Given the description of an element on the screen output the (x, y) to click on. 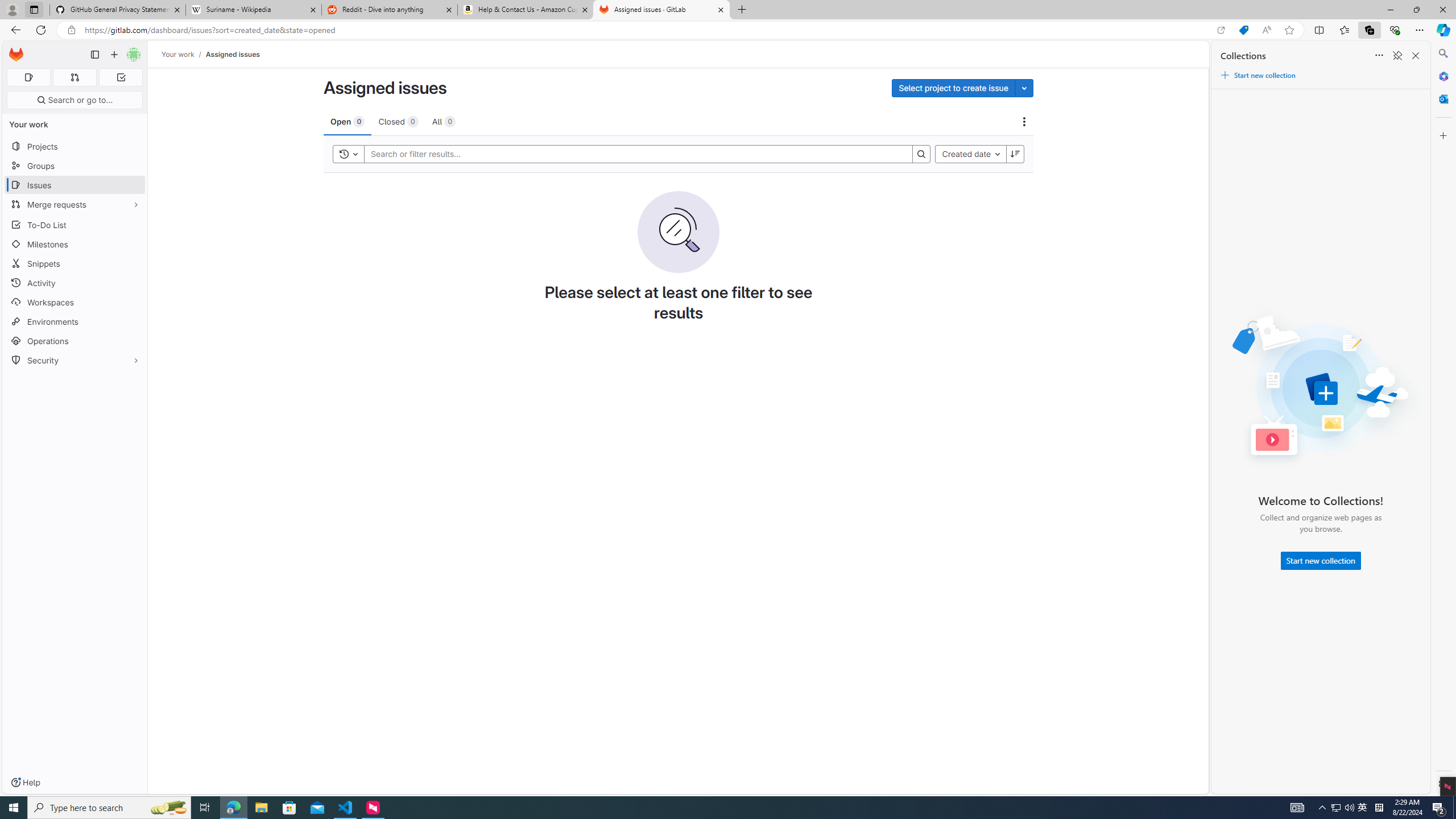
Open in app (1220, 29)
To-Do list 0 (120, 76)
Assigned issues 0 (28, 76)
Groups (74, 165)
Merge requests 0 (74, 76)
Operations (74, 340)
Close Collections (1415, 55)
Create new... (113, 54)
Toggle project select (1023, 87)
